Given the description of an element on the screen output the (x, y) to click on. 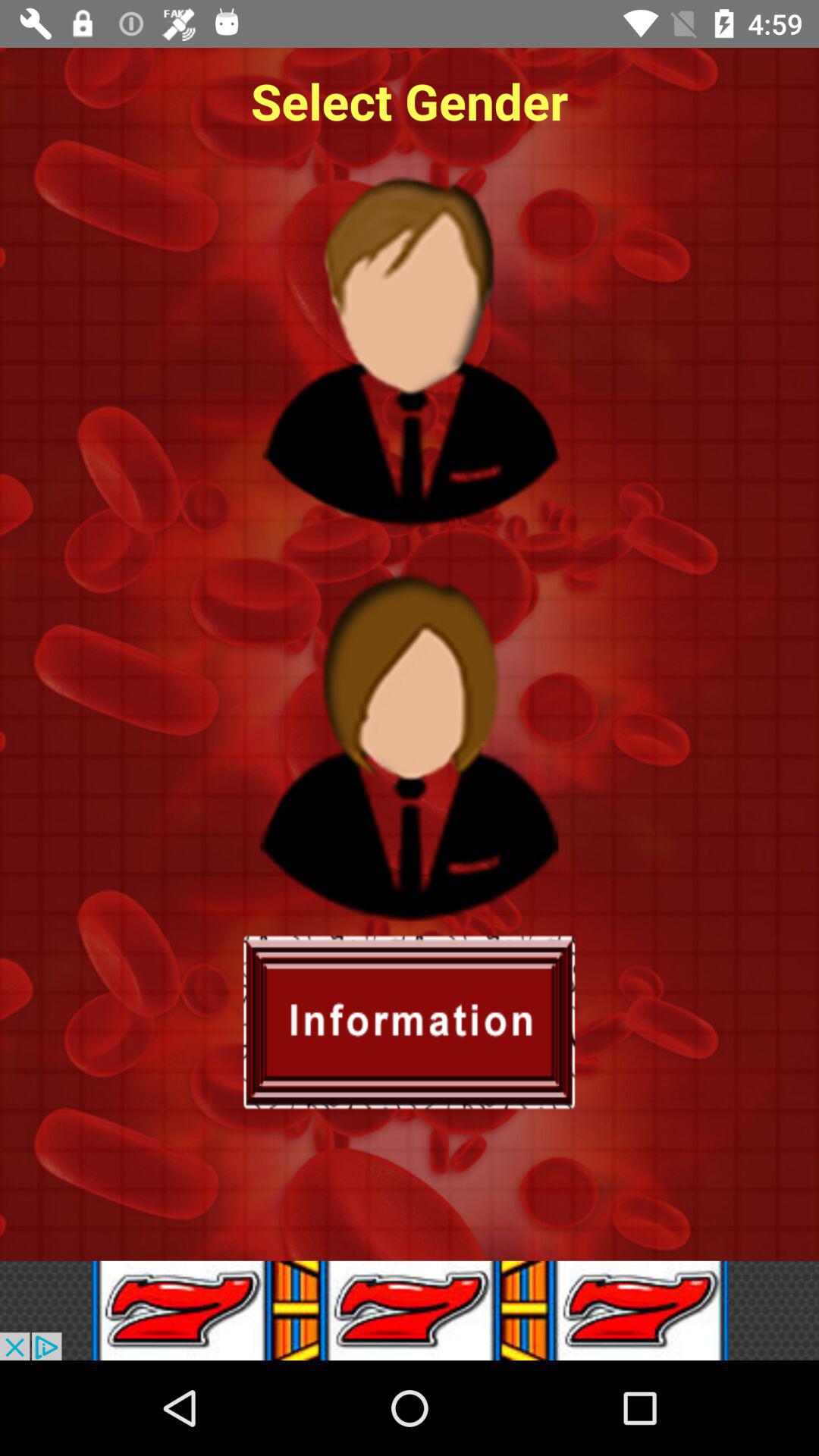
advertisement link (409, 1310)
